Given the description of an element on the screen output the (x, y) to click on. 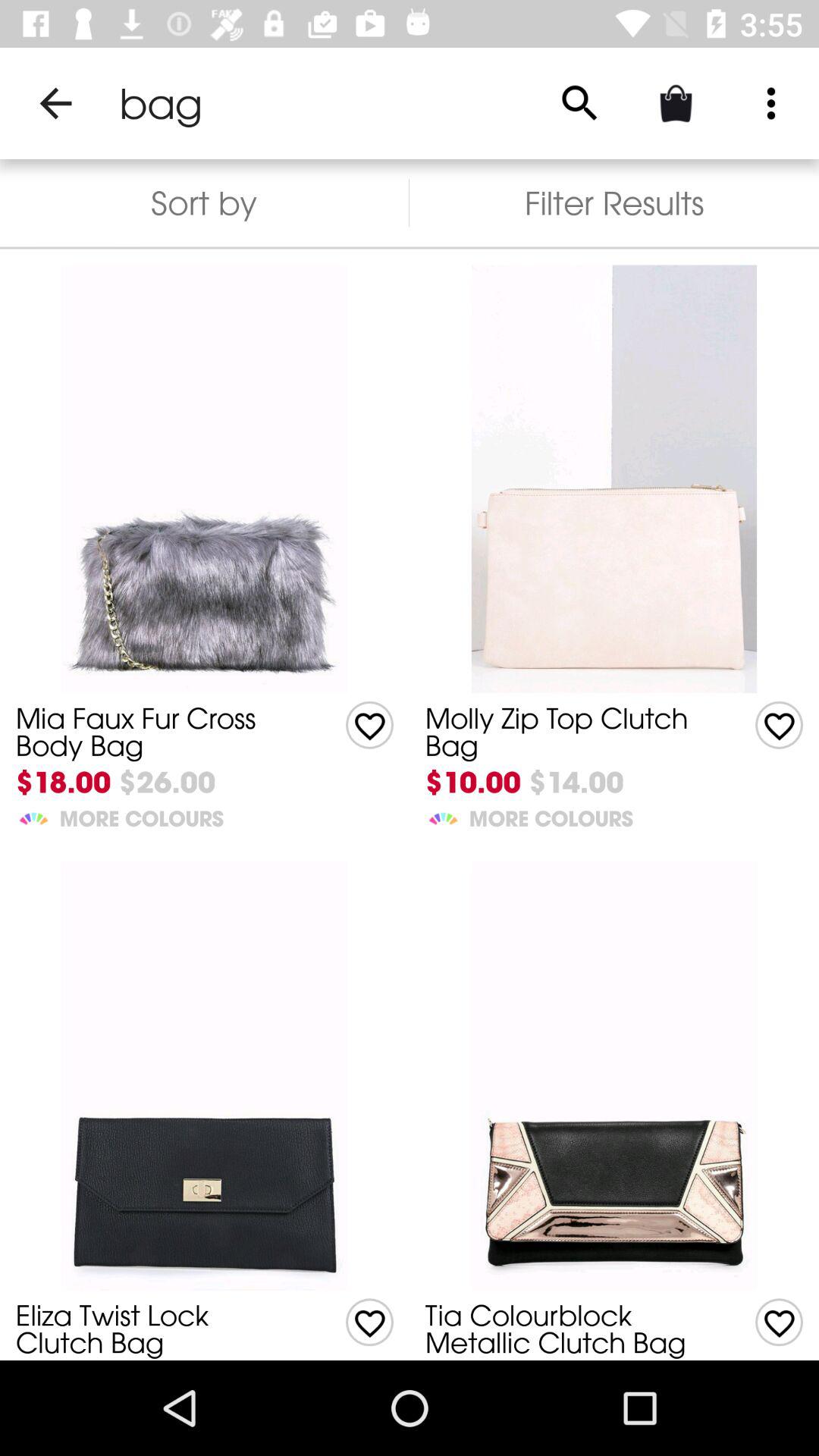
add to favorites (369, 1322)
